Given the description of an element on the screen output the (x, y) to click on. 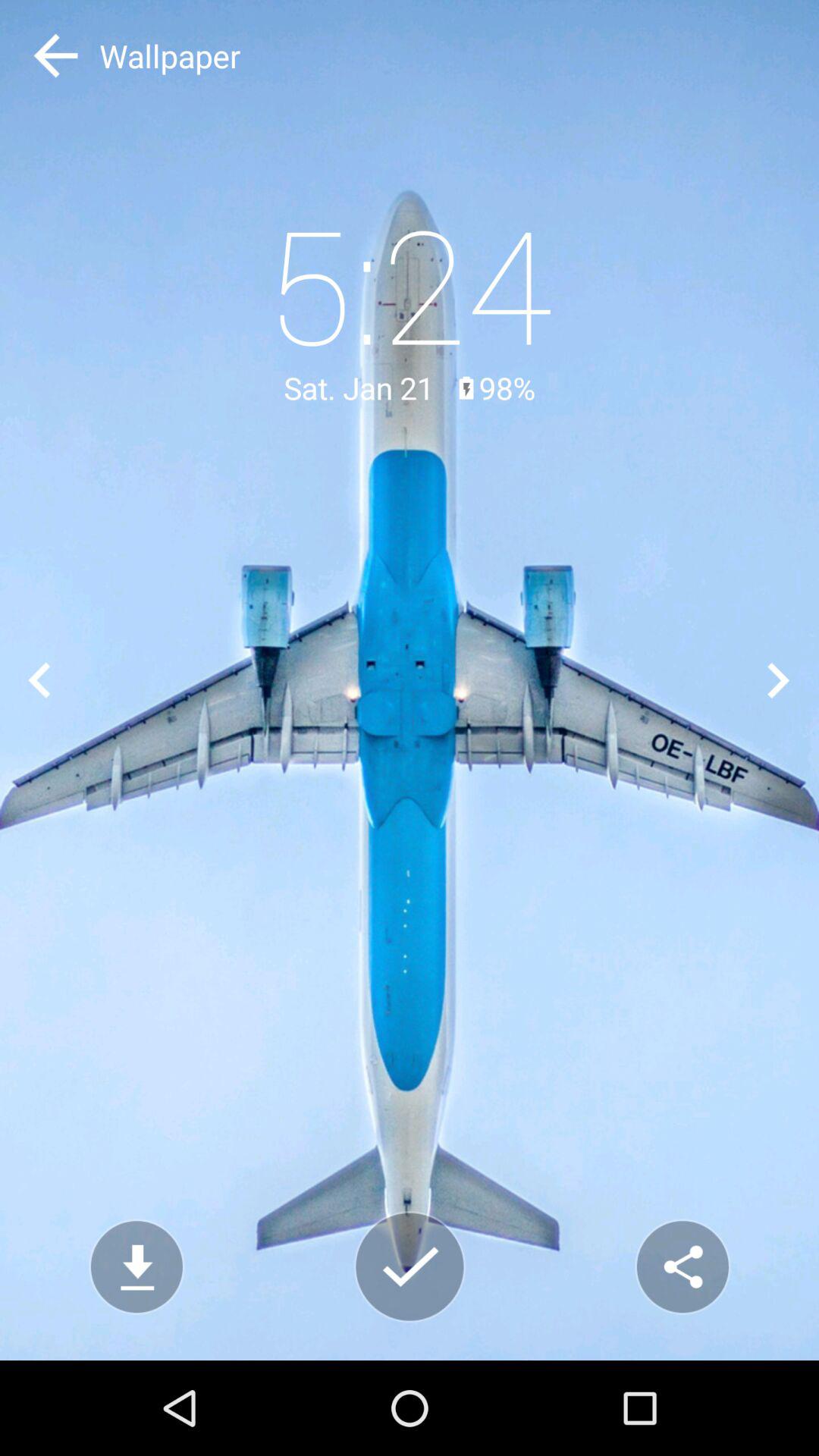
go next (779, 680)
